Given the description of an element on the screen output the (x, y) to click on. 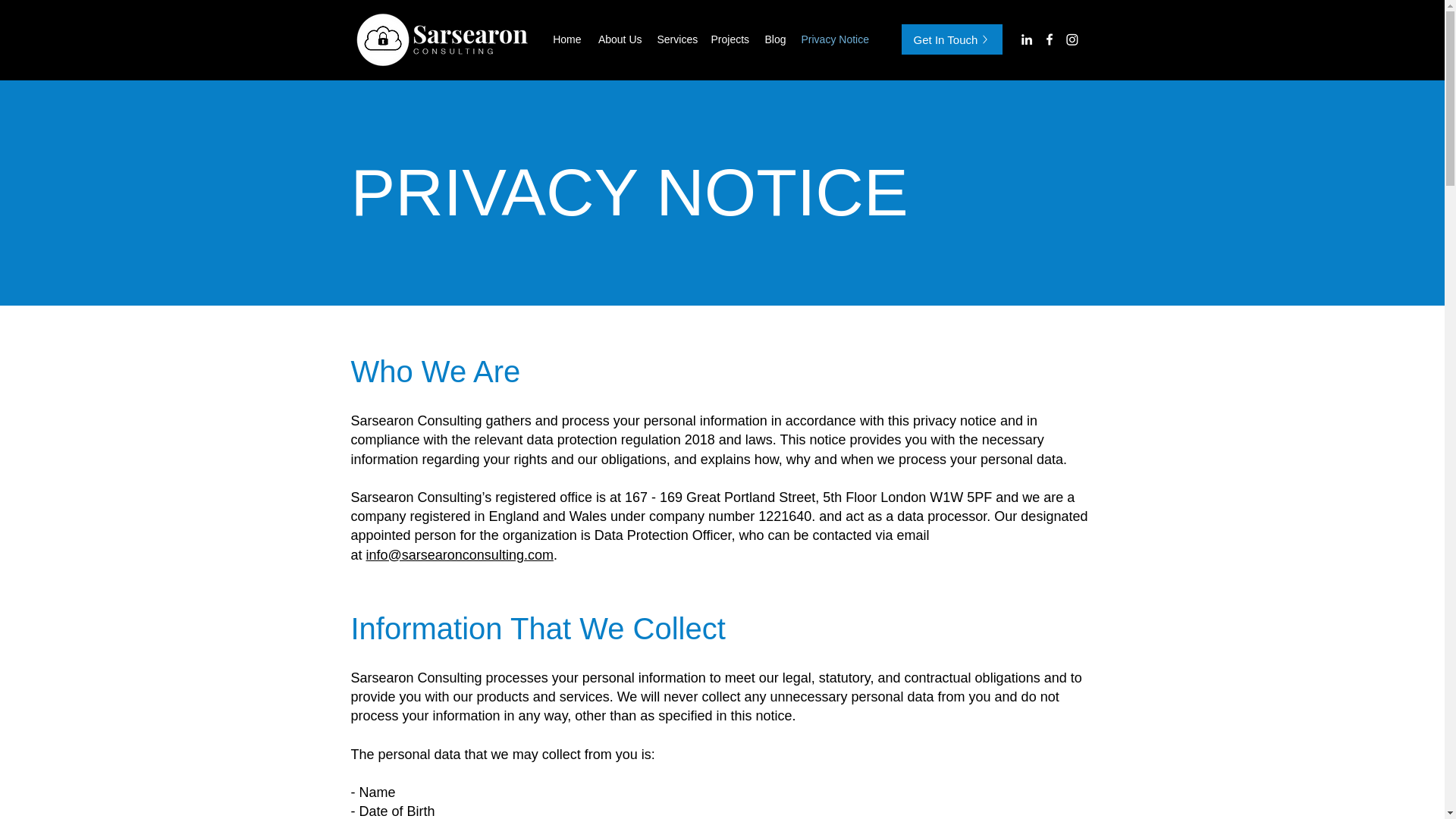
Services (676, 38)
Blog (775, 38)
logo-updated.png (441, 39)
Projects (730, 38)
Home (566, 38)
About Us (618, 38)
Get In Touch (951, 39)
Privacy Notice (834, 38)
